Given the description of an element on the screen output the (x, y) to click on. 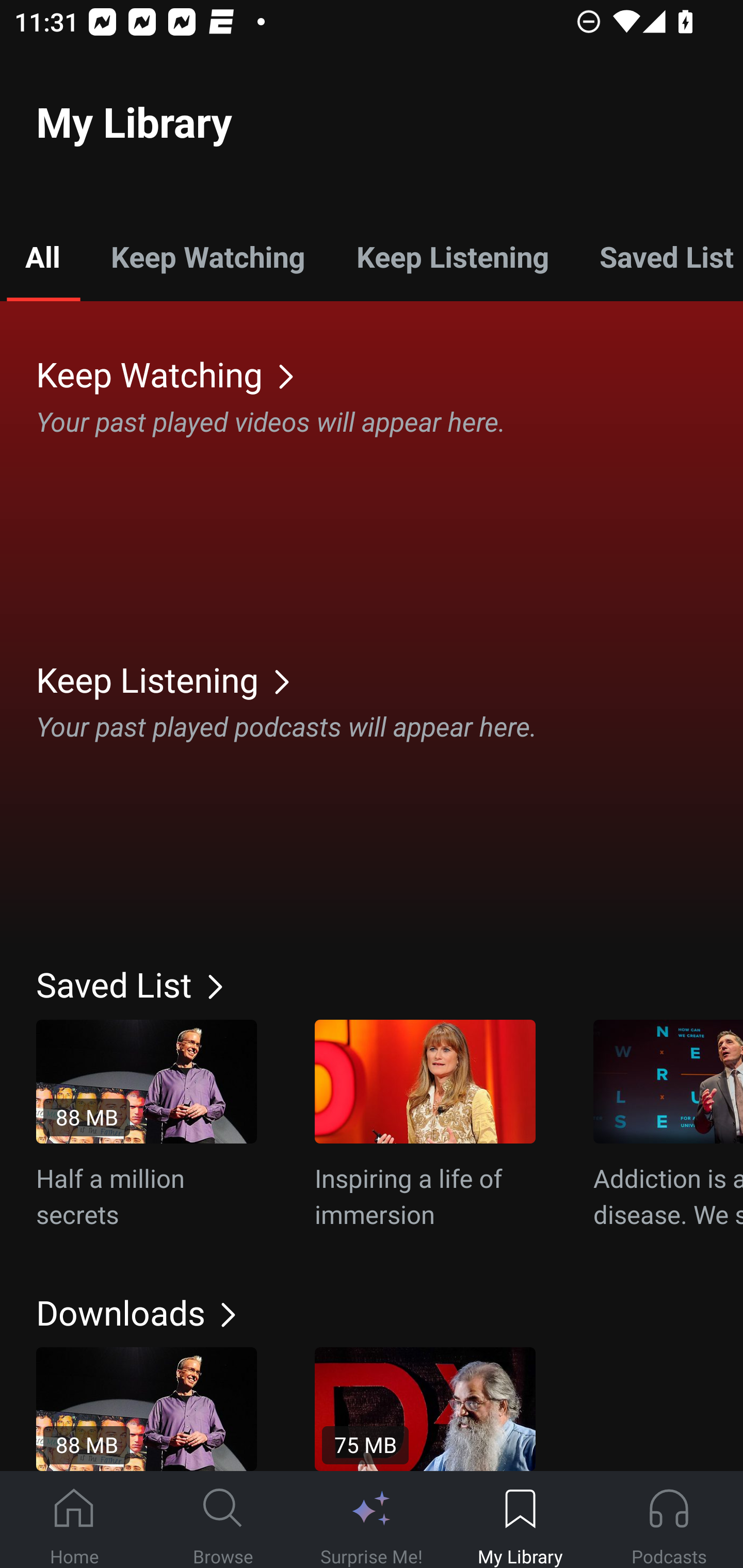
All (42, 256)
Keep Watching (207, 256)
Keep Listening (452, 256)
Saved List (658, 256)
Keep Watching (389, 373)
Keep Listening (389, 679)
Saved List (389, 983)
88 MB Half a million secrets (146, 1125)
Inspiring a life of immersion (425, 1125)
Downloads (389, 1312)
88 MB (146, 1408)
75 MB (425, 1408)
Home (74, 1520)
Browse (222, 1520)
Surprise Me! (371, 1520)
My Library (519, 1520)
Podcasts (668, 1520)
